Given the description of an element on the screen output the (x, y) to click on. 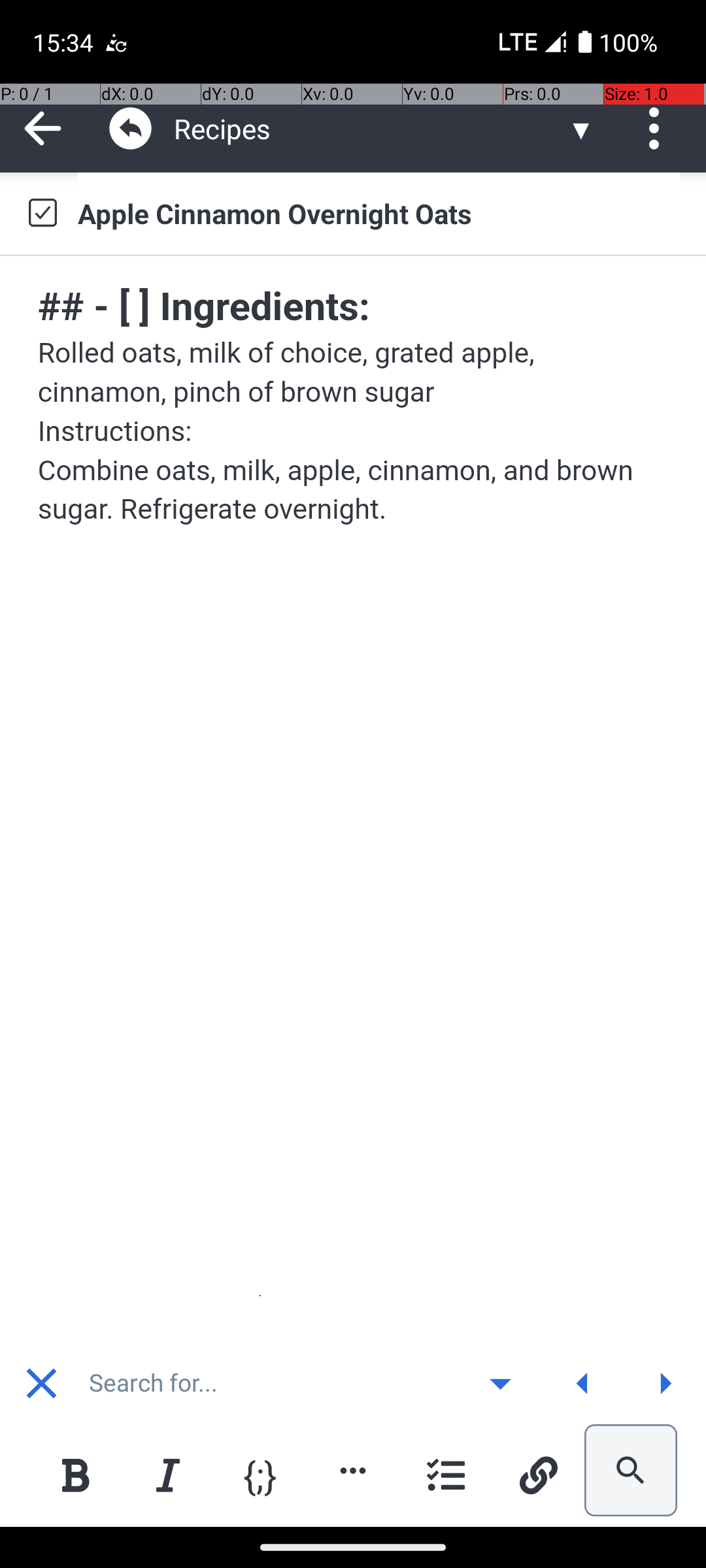
Apple Cinnamon Overnight Oats Element type: android.widget.EditText (378, 213)
Search for... Element type: android.widget.EditText (270, 1382)
Show advanced Element type: android.widget.Button (499, 1382)
Previous match Element type: android.widget.Button (582, 1382)
Next match Element type: android.widget.Button (664, 1382)
󰅖 Element type: android.widget.TextView (41, 1382)
󰍝 Element type: android.widget.TextView (500, 1382)
󰍞 Element type: android.widget.TextView (582, 1382)
󰍟 Element type: android.widget.TextView (664, 1382)
## - [ ] Ingredients:
Rolled oats, milk of choice, grated apple, cinnamon, pinch of brown sugar
Instructions:
Combine oats, milk, apple, cinnamon, and brown sugar. Refrigerate overnight. Element type: android.widget.EditText (354, 404)
